Given the description of an element on the screen output the (x, y) to click on. 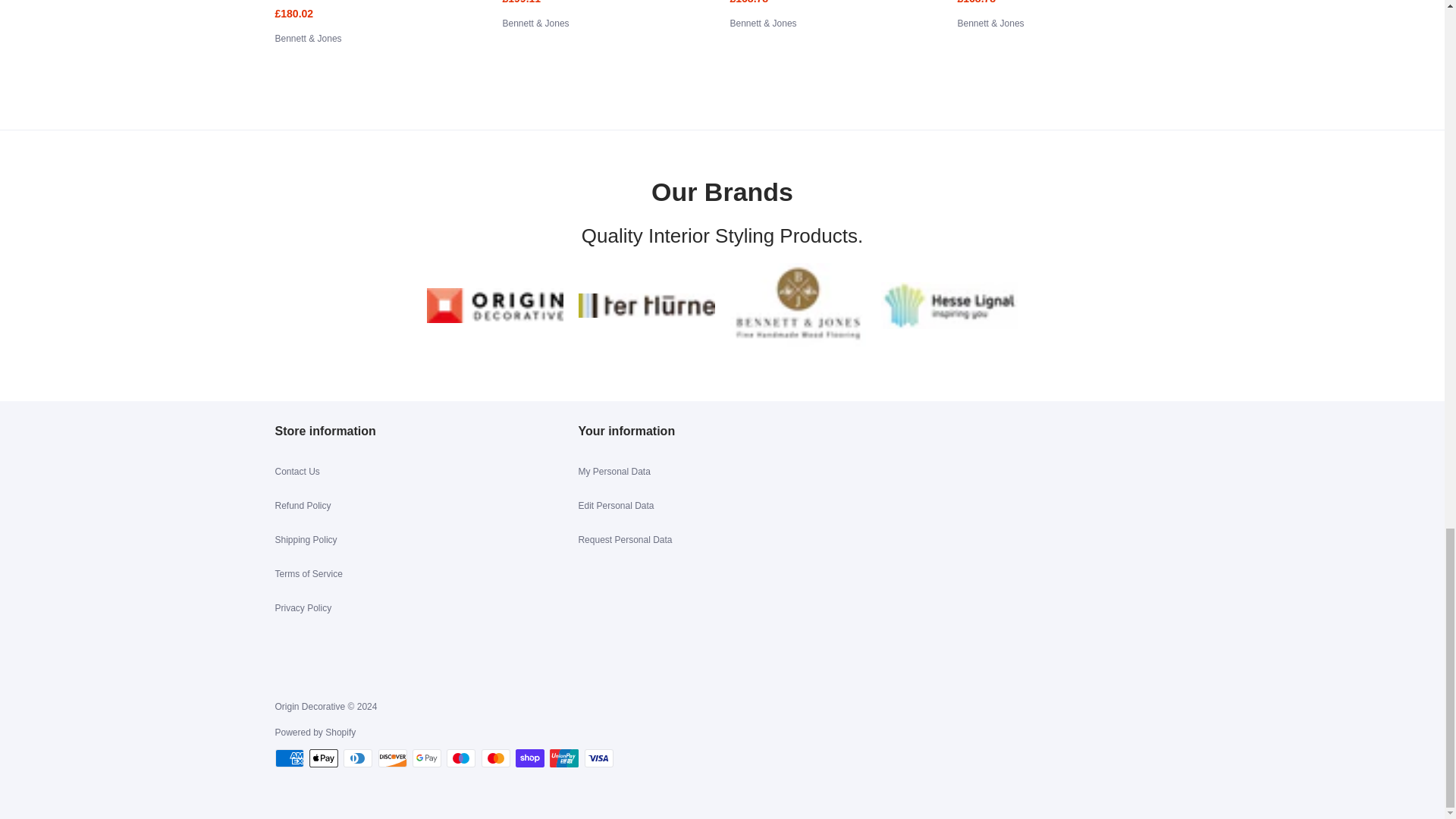
Diners Club (357, 758)
Shop Pay (529, 758)
Google Pay (426, 758)
Mastercard (496, 758)
American Express (288, 758)
Apple Pay (322, 758)
Union Pay (564, 758)
Maestro (461, 758)
Visa (598, 758)
Discover (392, 758)
